Given the description of an element on the screen output the (x, y) to click on. 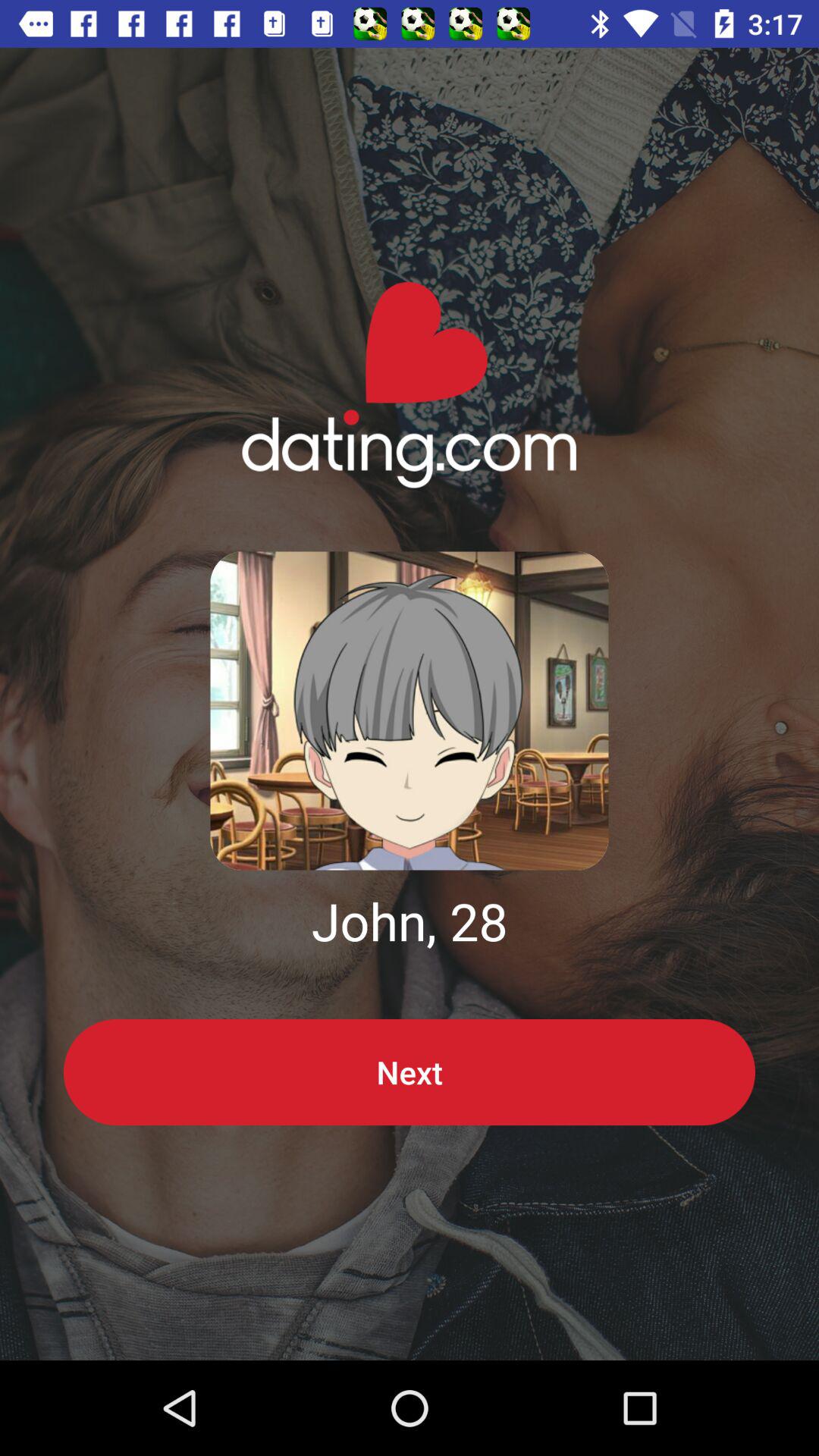
click the next item (409, 1072)
